Given the description of an element on the screen output the (x, y) to click on. 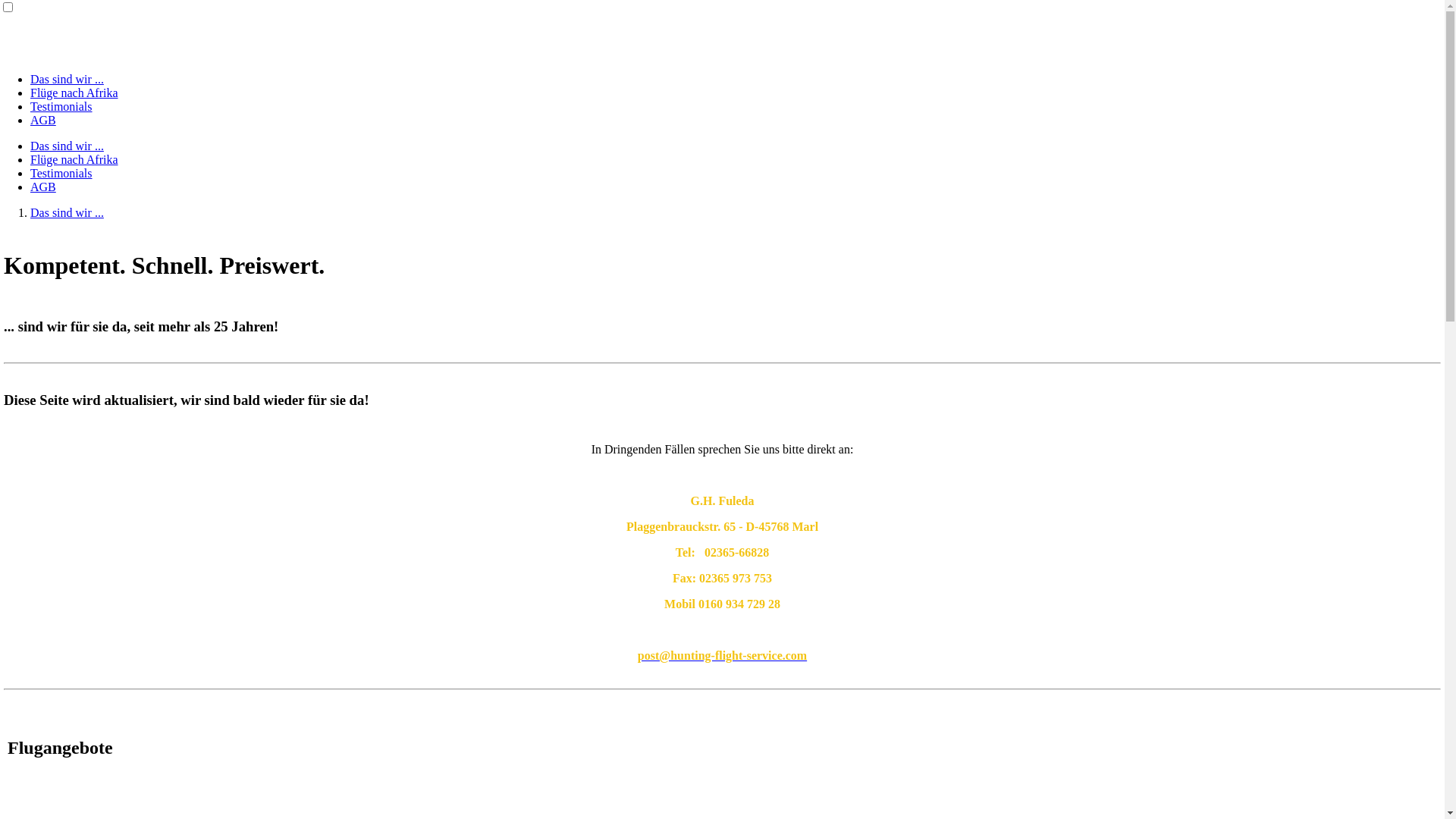
AGB Element type: text (43, 186)
Das sind wir ... Element type: text (66, 78)
post@hunting-flight-service.com Element type: text (721, 655)
Das sind wir ... Element type: text (66, 145)
Das sind wir ... Element type: text (66, 212)
Testimonials Element type: text (61, 172)
AGB Element type: text (43, 119)
Testimonials Element type: text (61, 106)
